Given the description of an element on the screen output the (x, y) to click on. 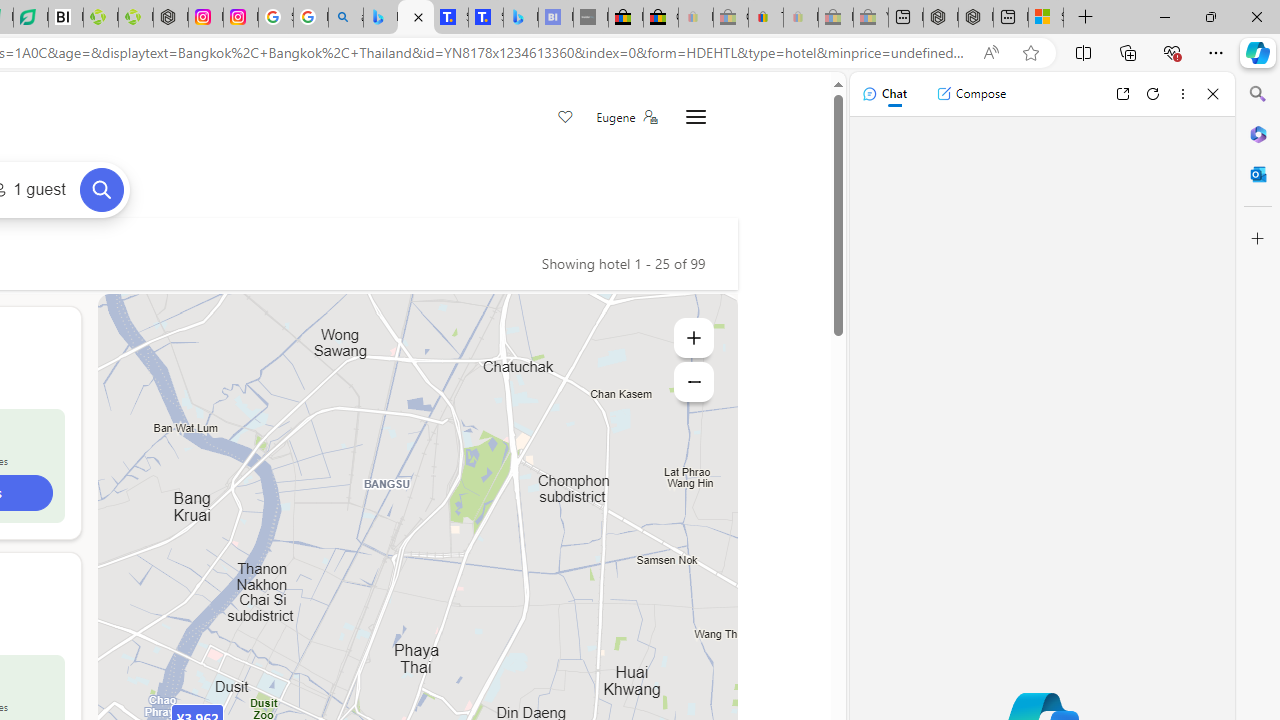
Eugene (626, 117)
LendingTree - Compare Lenders (31, 17)
Descarga Driver Updater (136, 17)
Microsoft Bing Travel - Stays in Bangkok, Bangkok, Thailand (415, 17)
Save (565, 118)
Microsoft Bing Travel - Flights from Hong Kong to Bangkok (380, 17)
